Given the description of an element on the screen output the (x, y) to click on. 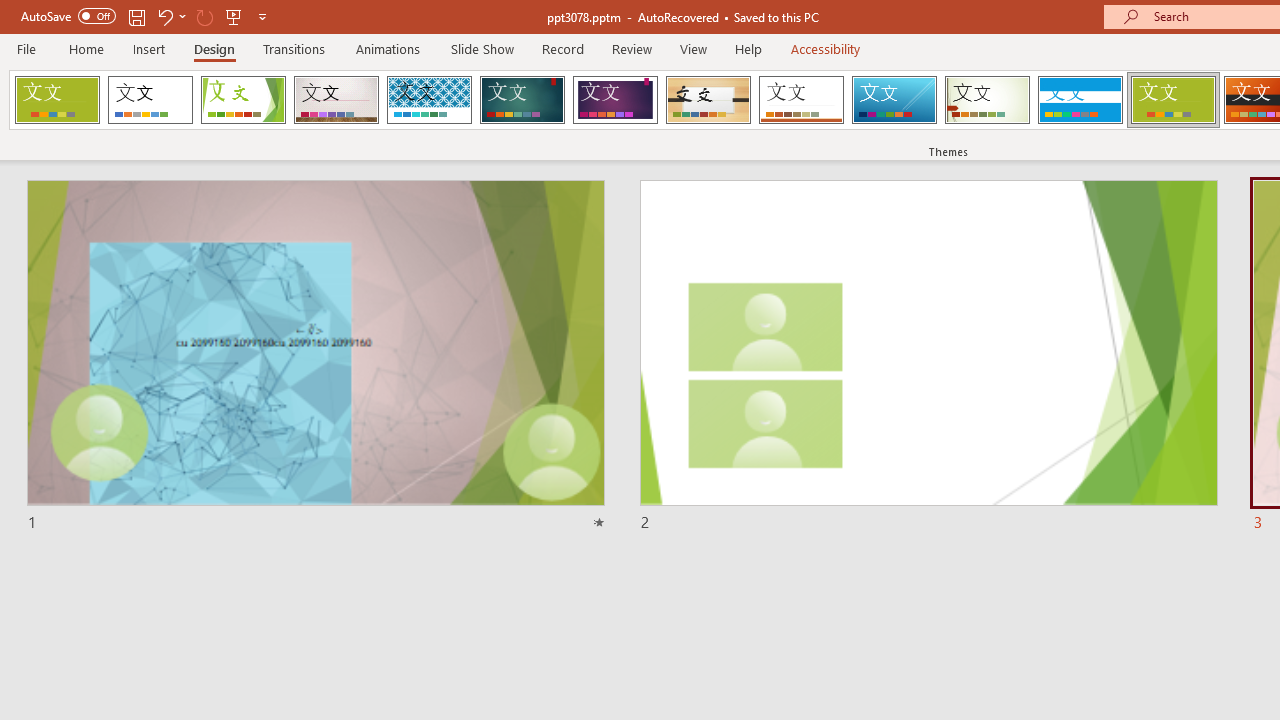
Retrospect (801, 100)
Office Theme (150, 100)
Basis (1172, 100)
Wisp (987, 100)
